Given the description of an element on the screen output the (x, y) to click on. 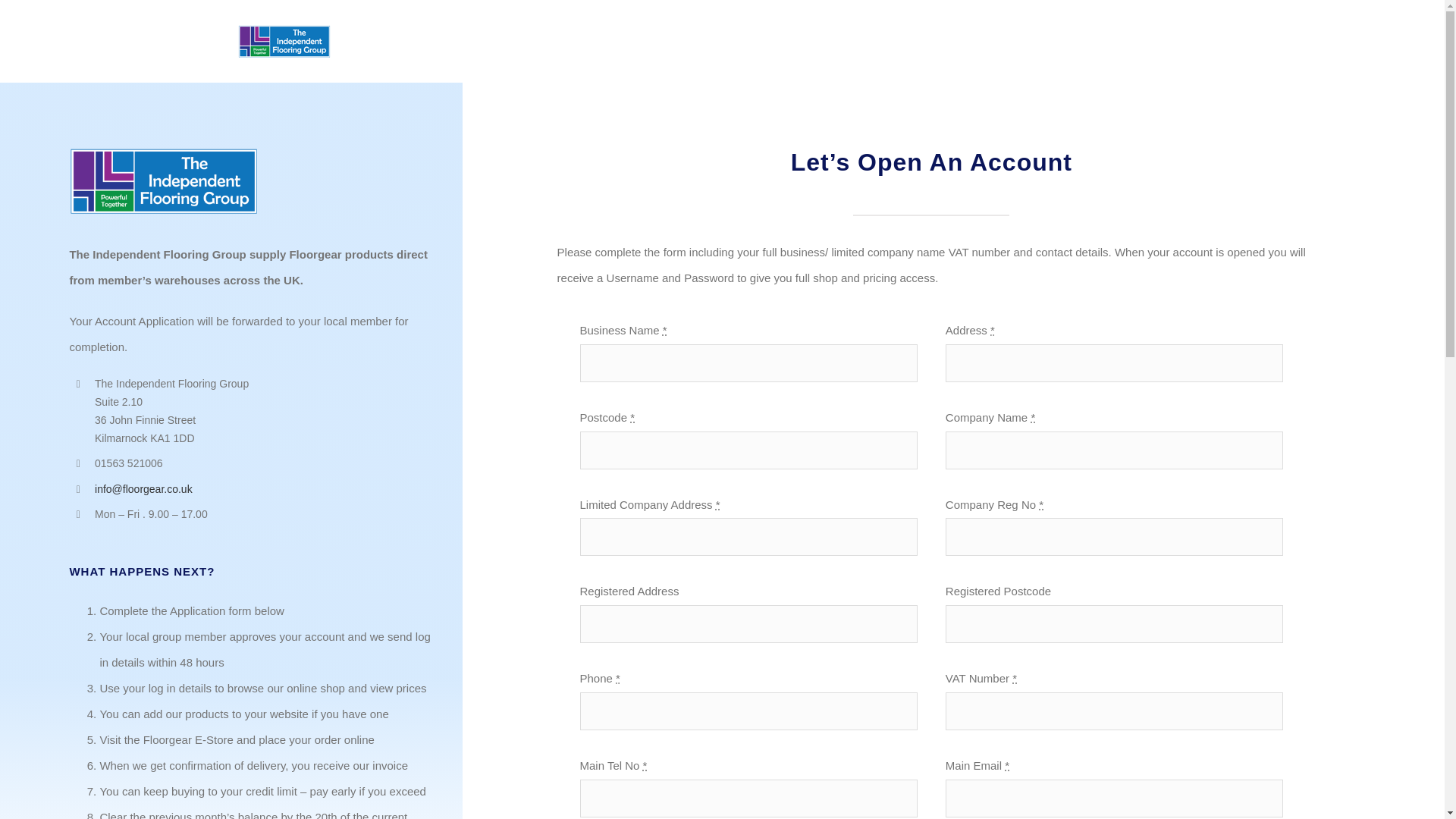
Independent-Logo (163, 181)
Open an Account (1290, 41)
Open an Account with Floorgear (1290, 41)
